Given the description of an element on the screen output the (x, y) to click on. 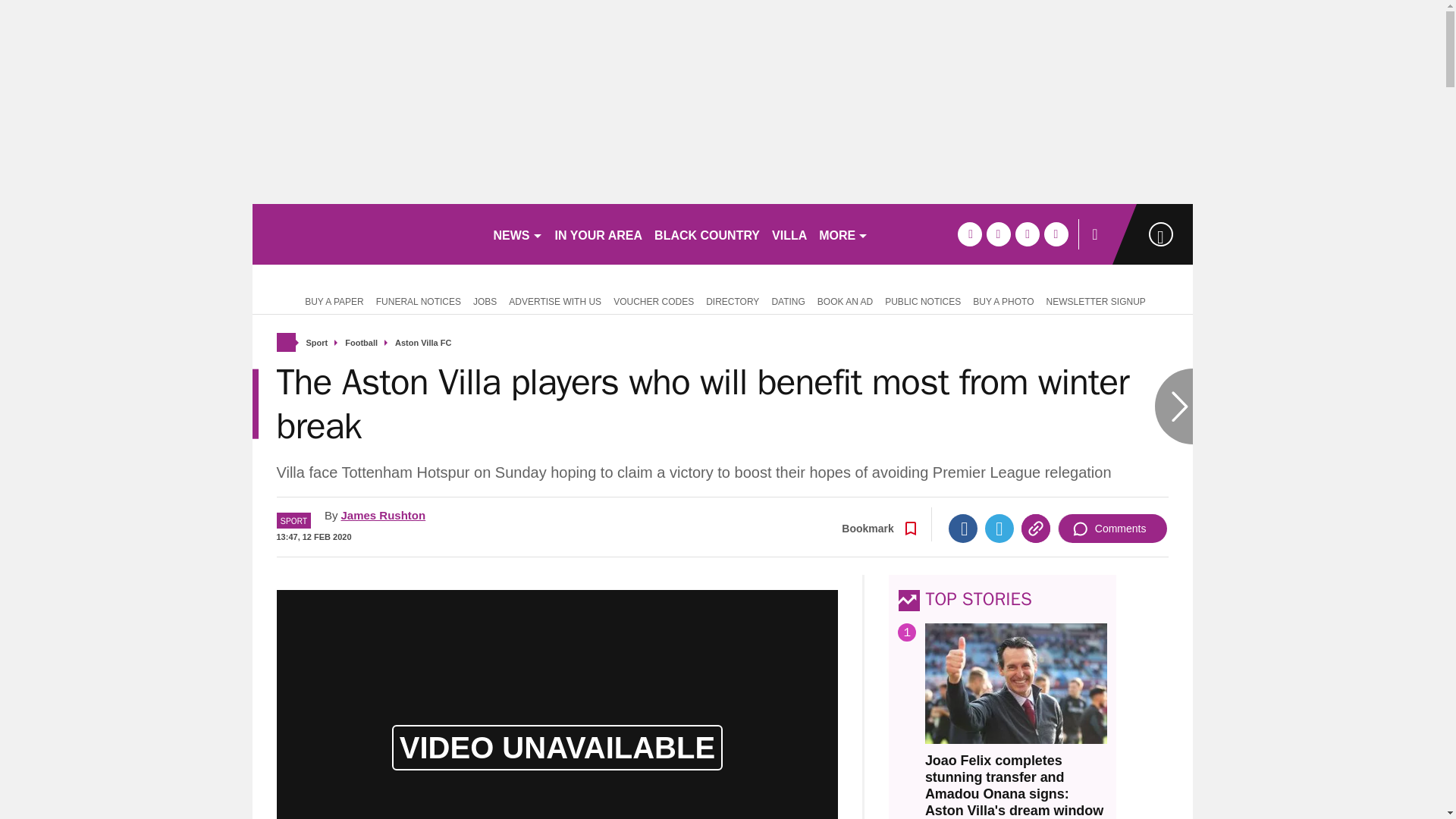
tiktok (1026, 233)
NEWS (517, 233)
BLACK COUNTRY (706, 233)
birminghammail (365, 233)
facebook (968, 233)
Facebook (962, 528)
IN YOUR AREA (598, 233)
twitter (997, 233)
MORE (843, 233)
instagram (1055, 233)
Comments (1112, 528)
Twitter (999, 528)
